Given the description of an element on the screen output the (x, y) to click on. 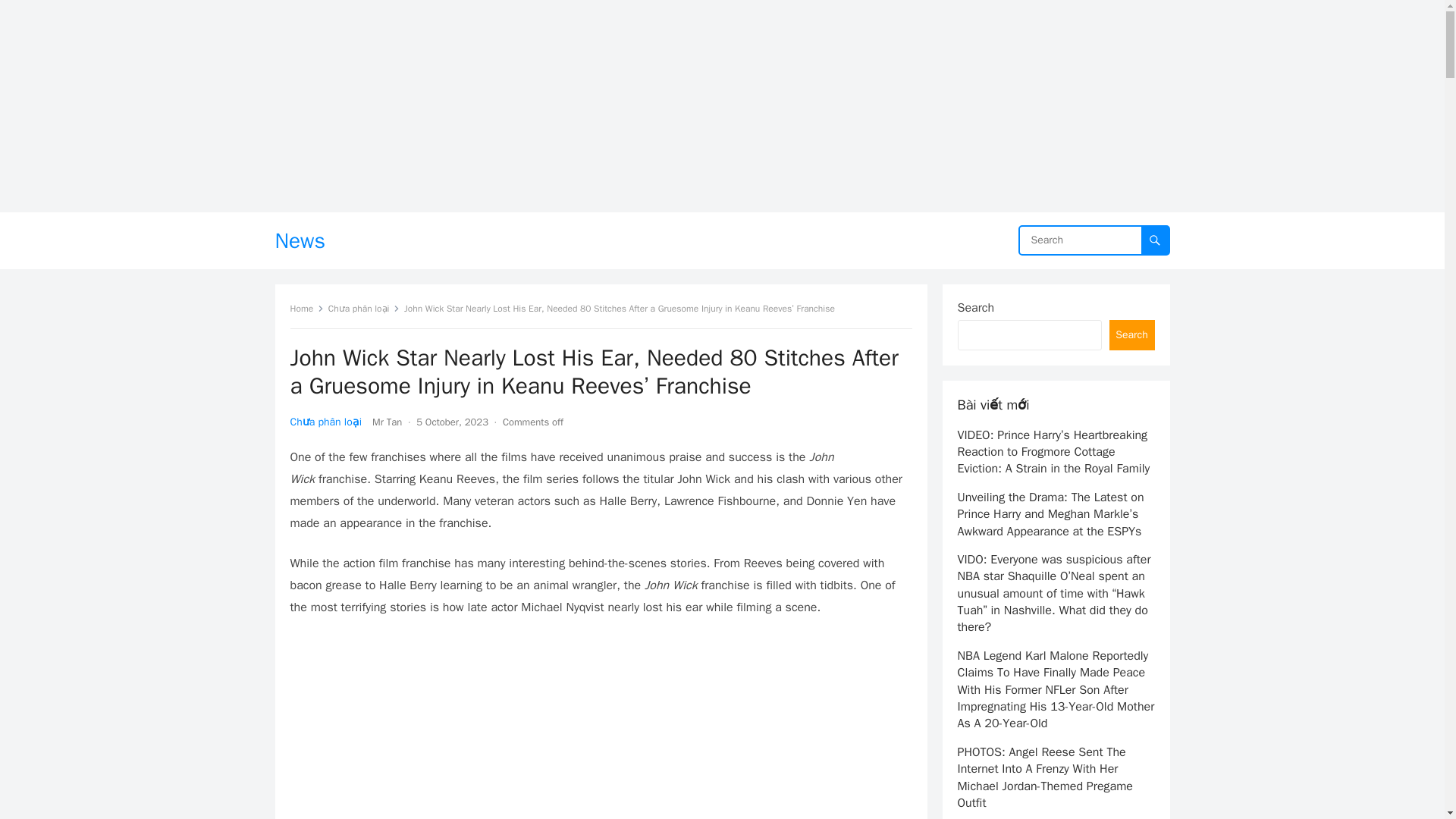
Mr Tan (386, 421)
Advertisement (600, 728)
News (299, 240)
Home (306, 308)
Posts by Mr Tan (386, 421)
Search (1131, 335)
